Given the description of an element on the screen output the (x, y) to click on. 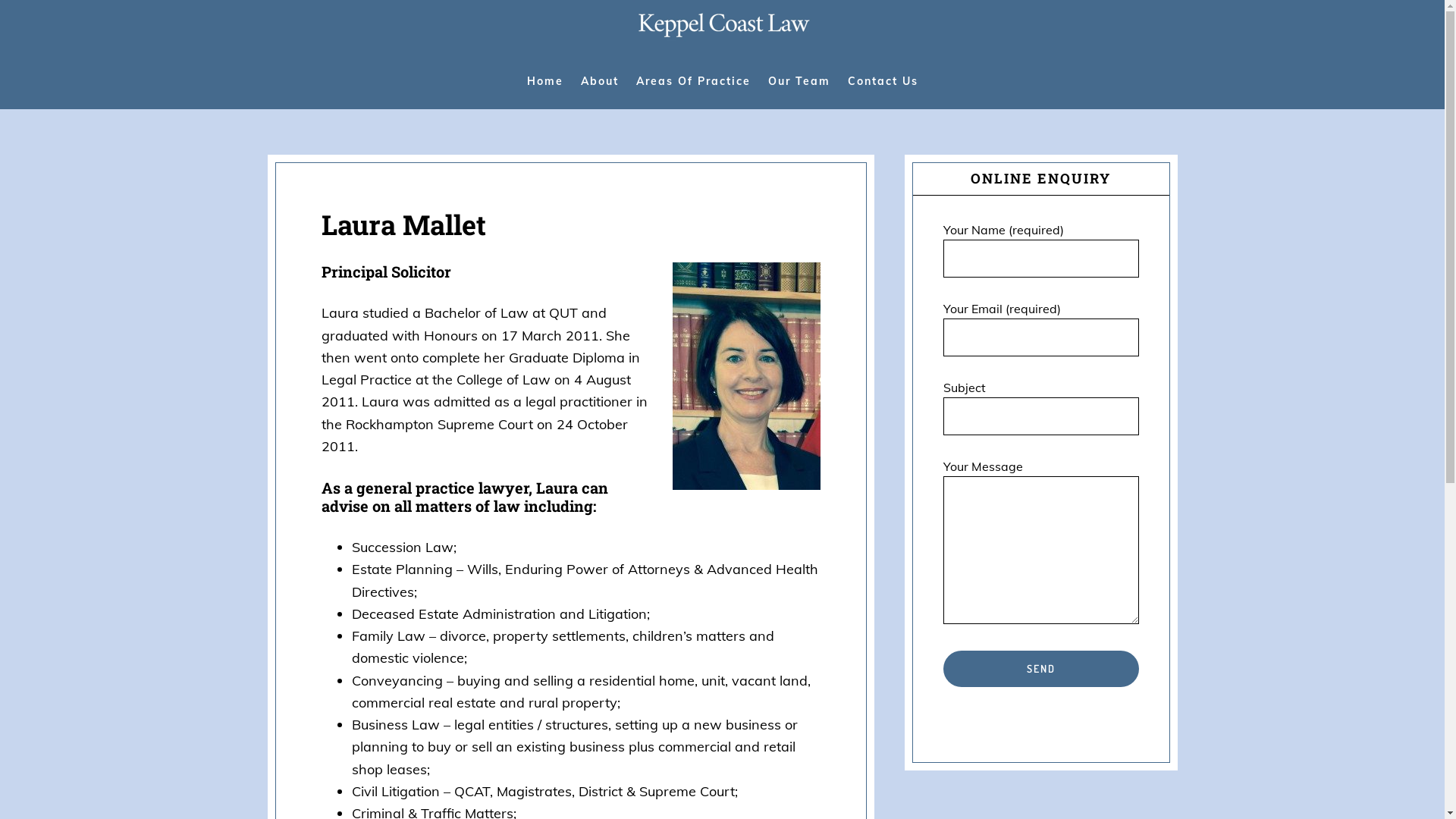
Areas Of Practice Element type: text (692, 81)
Skip to primary navigation Element type: text (0, 0)
Send Element type: text (1041, 668)
Our Team Element type: text (798, 81)
About Element type: text (599, 81)
Home Element type: text (544, 81)
Contact Us Element type: text (882, 81)
Keppel Coast Law Element type: hover (722, 32)
